Given the description of an element on the screen output the (x, y) to click on. 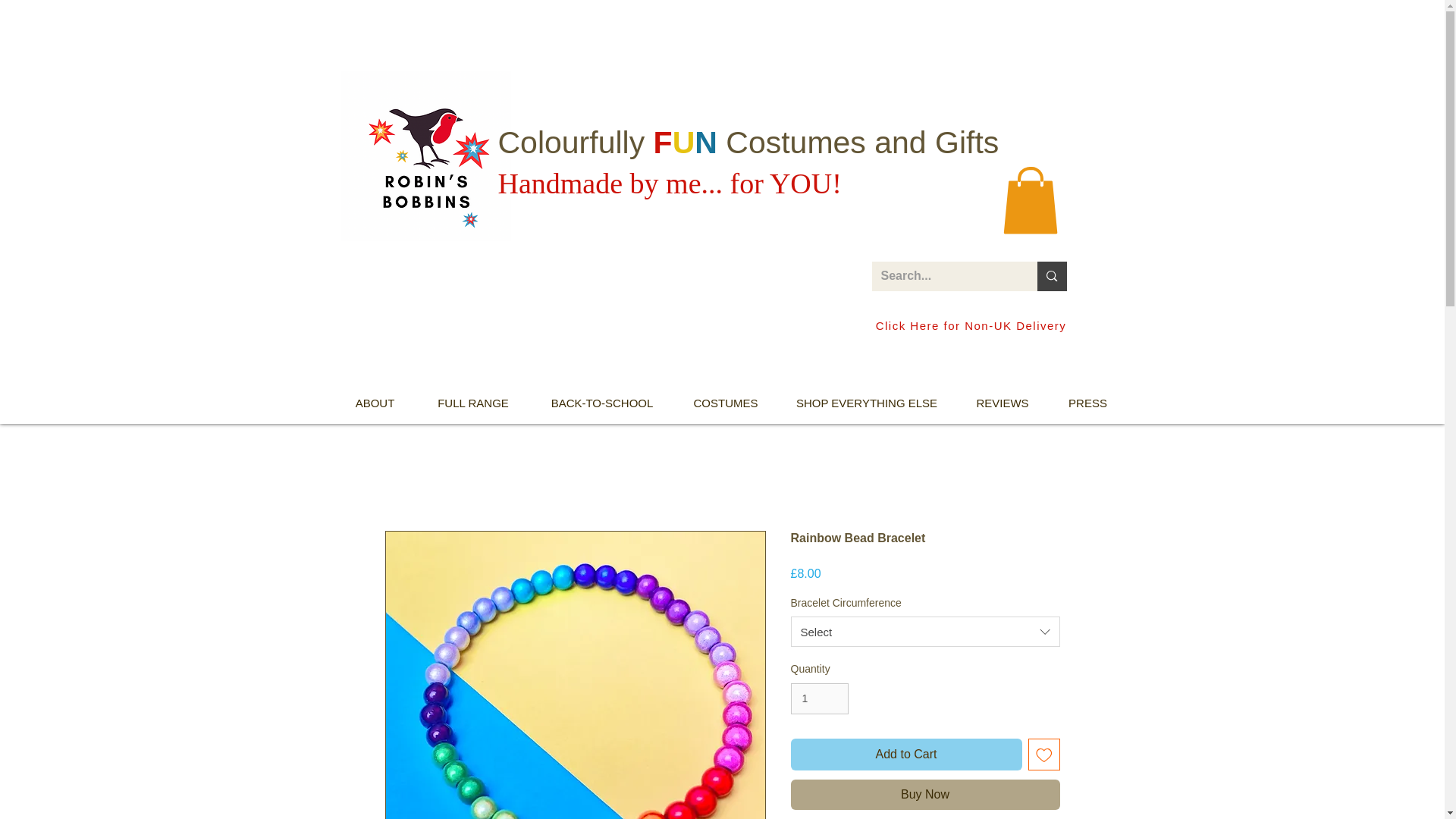
ABOUT (373, 402)
REVIEWS (1001, 402)
Click Here for Non-UK Delivery (973, 325)
BACK-TO-SCHOOL (602, 402)
SHOP EVERYTHING ELSE (867, 402)
PRESS (1088, 402)
COSTUMES (725, 402)
1 (818, 698)
FULL RANGE (472, 402)
